Given the description of an element on the screen output the (x, y) to click on. 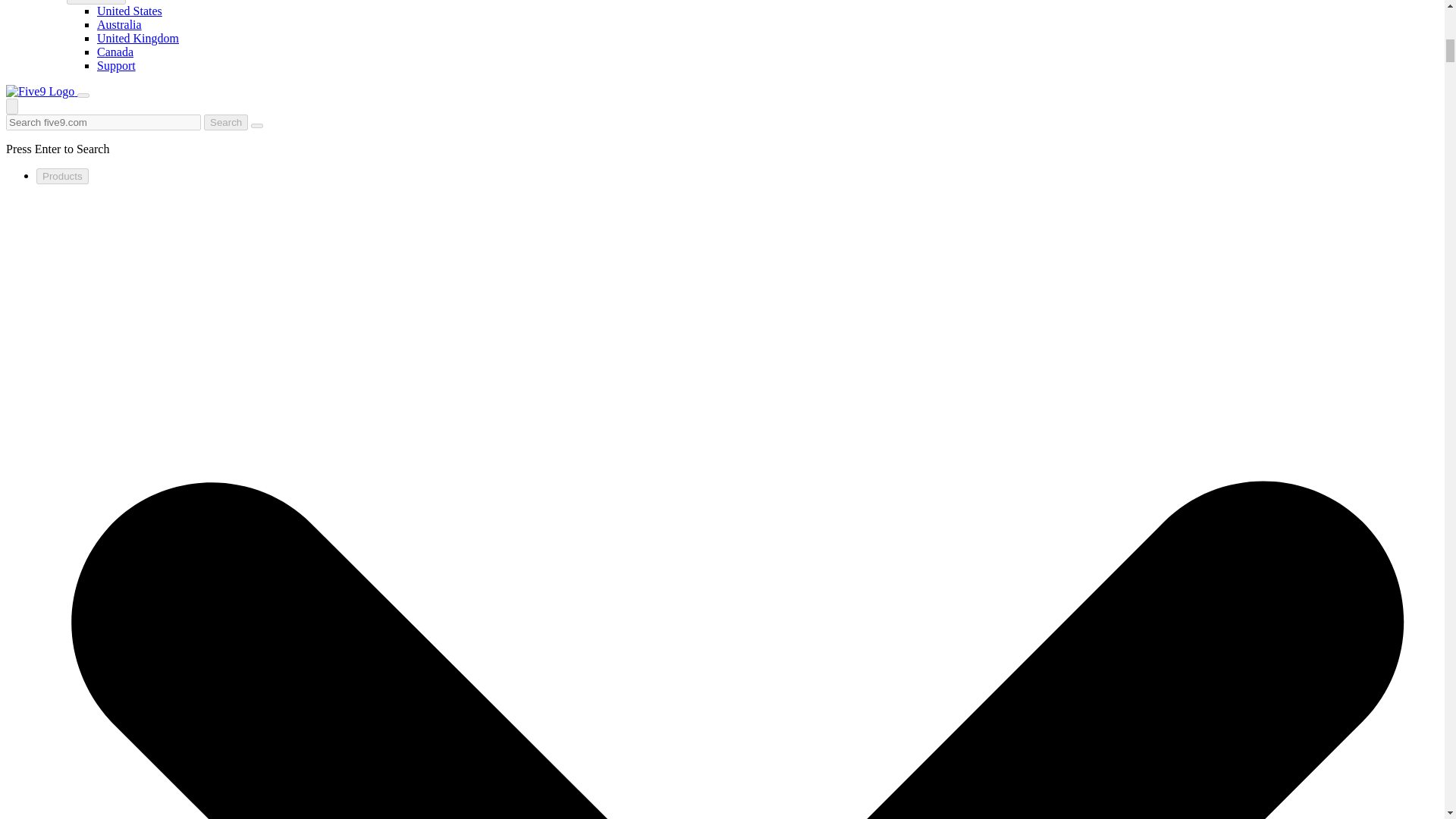
Search (225, 122)
Support (116, 65)
Canada (115, 51)
Australia (119, 24)
Search (225, 122)
Studio IVA (95, 2)
United Kingdom (138, 38)
Enter the terms you wish to search for. (102, 122)
United States (129, 10)
Products (62, 176)
